Given the description of an element on the screen output the (x, y) to click on. 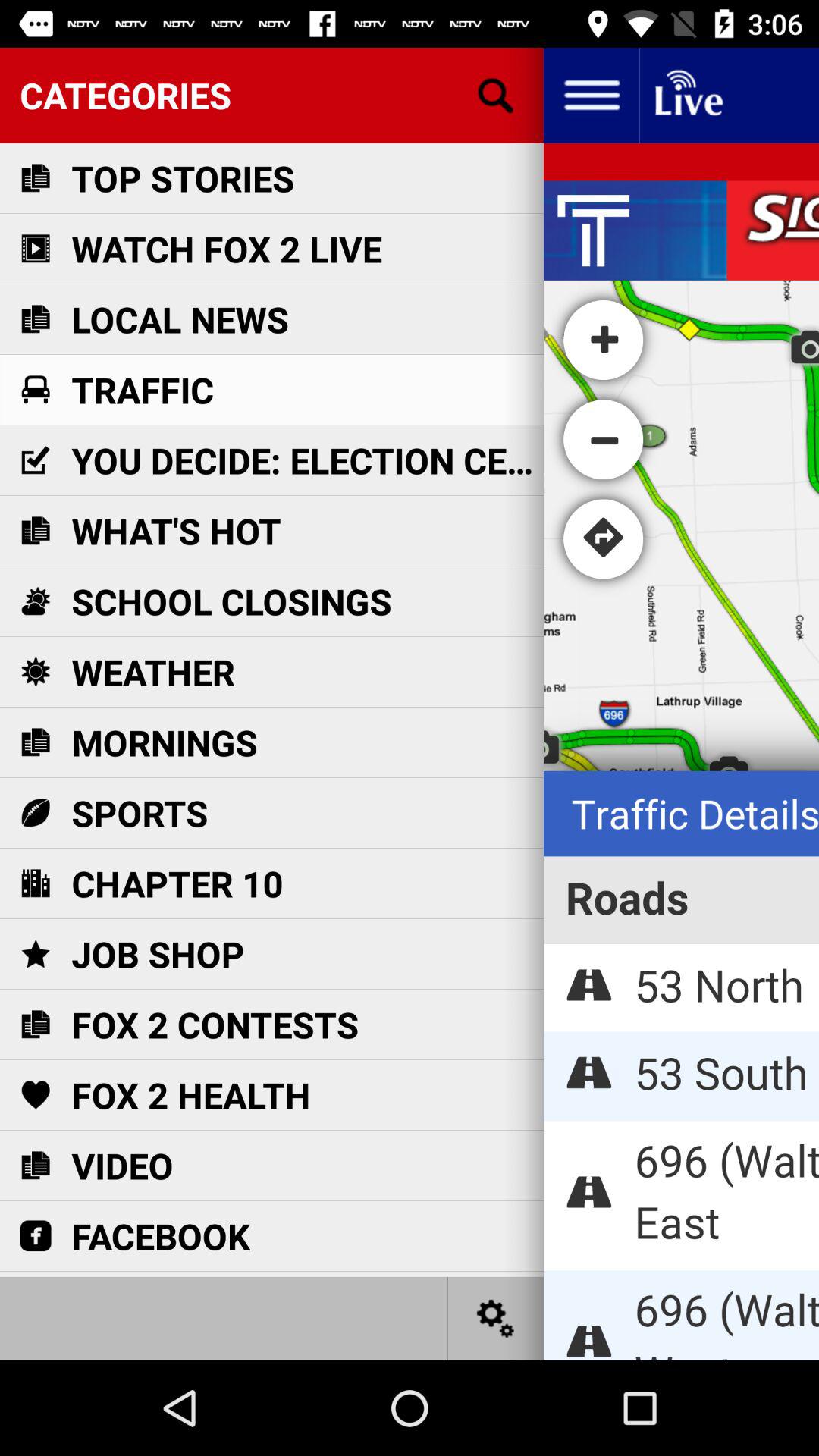
toggle menu (591, 95)
